Given the description of an element on the screen output the (x, y) to click on. 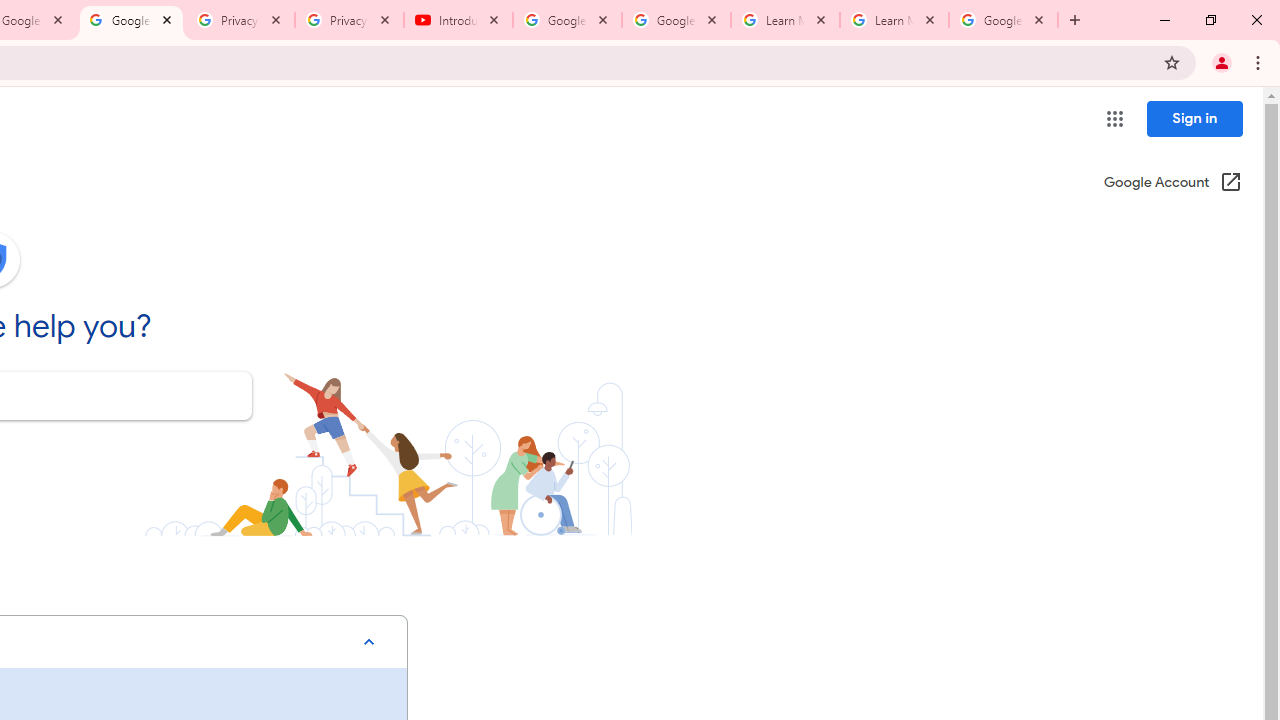
Google Account Help (567, 20)
Google Account Help (130, 20)
Google Account Help (676, 20)
Google Account (1003, 20)
Google Account (Open in a new window) (1172, 183)
